Given the description of an element on the screen output the (x, y) to click on. 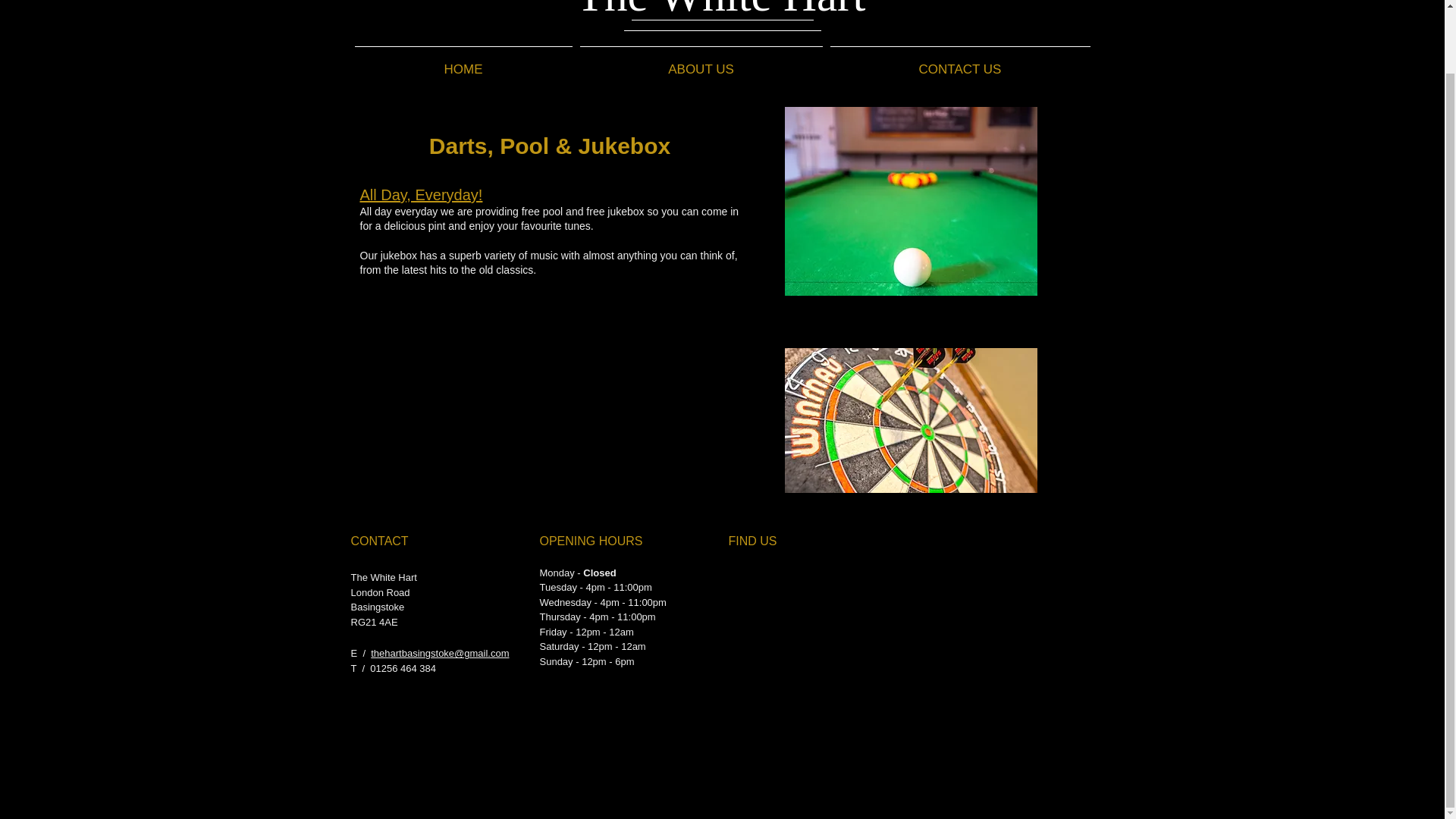
The White Hart (721, 10)
CONTACT US (960, 62)
HOME (462, 62)
ABOUT US (701, 62)
